Given the description of an element on the screen output the (x, y) to click on. 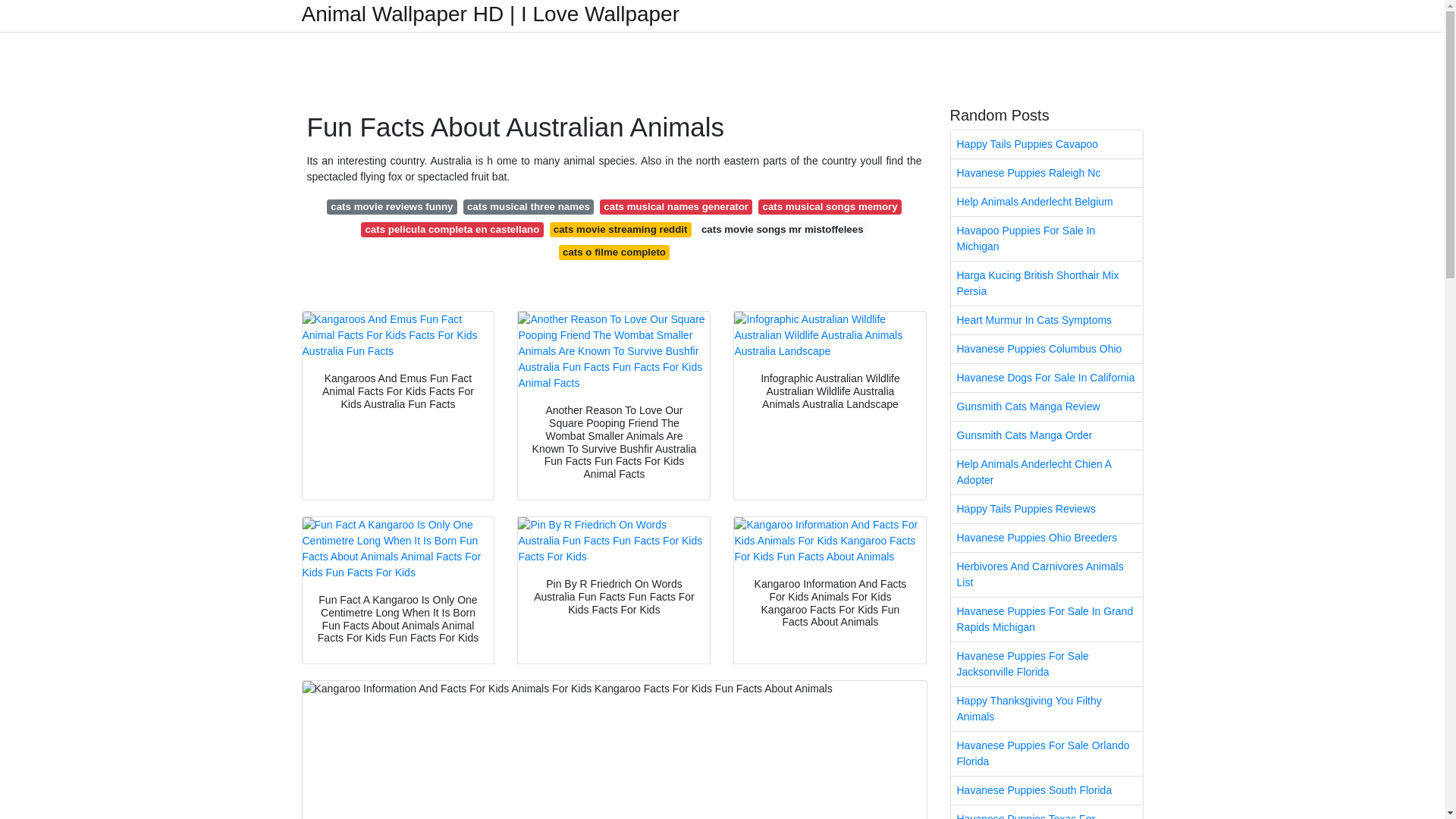
cats movie reviews funny (391, 206)
Havanese Puppies Columbus Ohio (1046, 348)
cats pelicula completa en castellano (452, 229)
Havapoo Puppies For Sale In Michigan (1046, 239)
Heart Murmur In Cats Symptoms (1046, 320)
cats o filme completo (614, 252)
cats movie songs mr mistoffelees (782, 229)
cats musical three names (528, 206)
cats musical songs memory (829, 206)
Havanese Puppies Raleigh Nc (1046, 172)
